Given the description of an element on the screen output the (x, y) to click on. 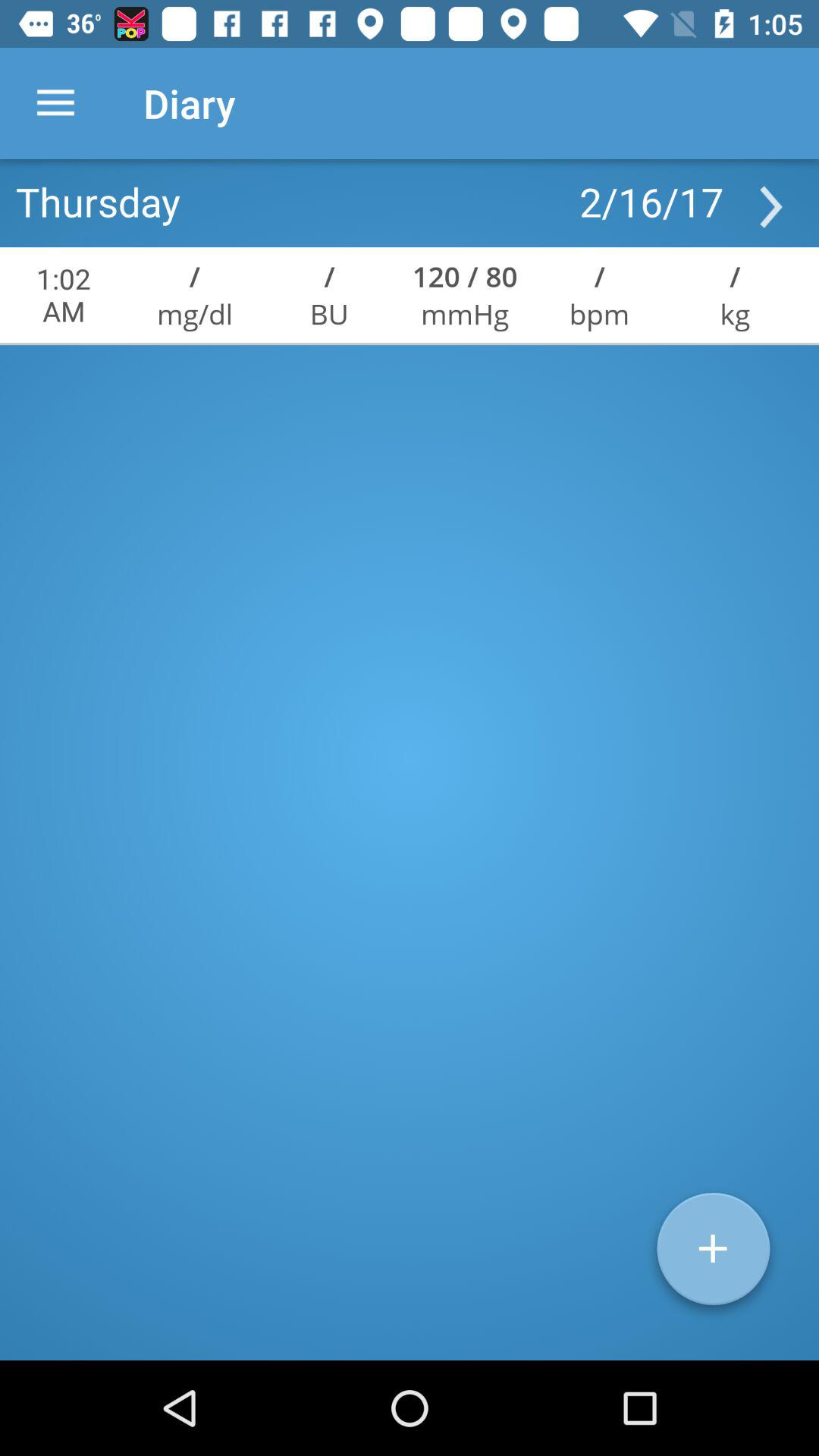
click the item next to mg/dl item (328, 313)
